Given the description of an element on the screen output the (x, y) to click on. 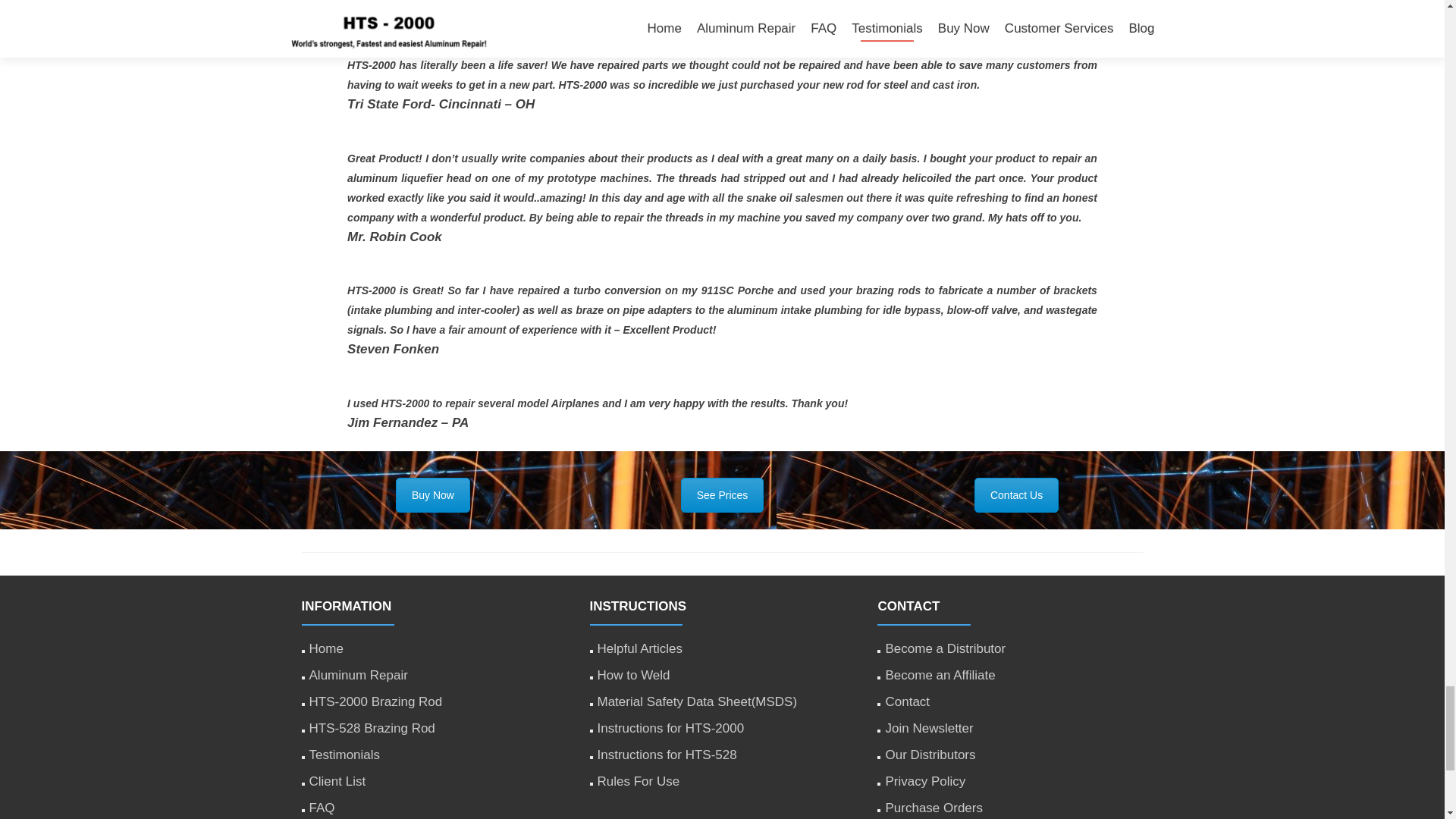
Client List (337, 780)
See Prices (722, 494)
Buy Now (433, 494)
HTS-528 Brazing Rod (371, 728)
Home (325, 648)
Contact Us (1016, 494)
Aluminum Repair (357, 675)
Testimonials (344, 754)
FAQ (321, 807)
HTS-2000 Brazing Rod (375, 701)
